Given the description of an element on the screen output the (x, y) to click on. 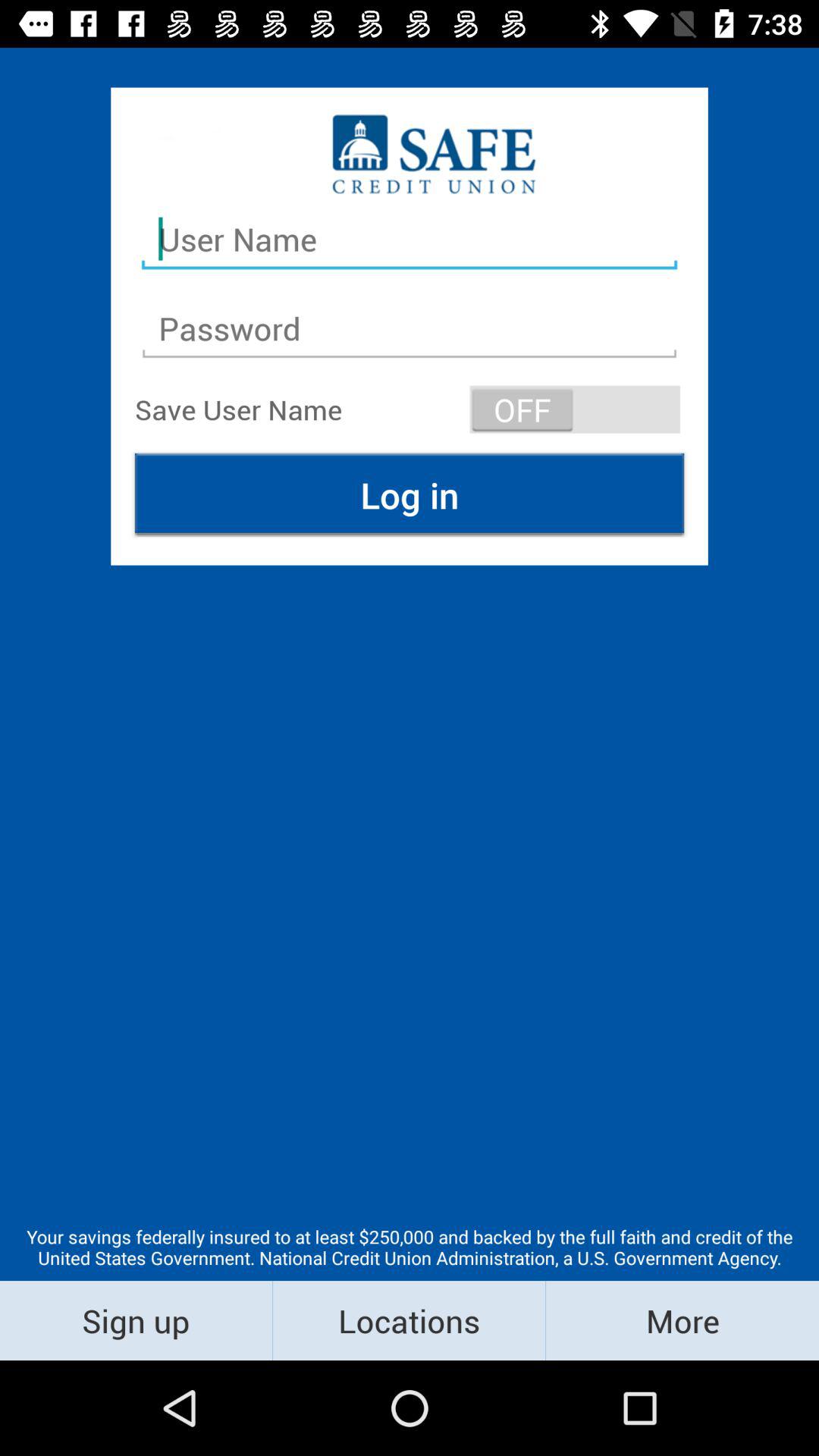
jump to sign up item (136, 1320)
